Given the description of an element on the screen output the (x, y) to click on. 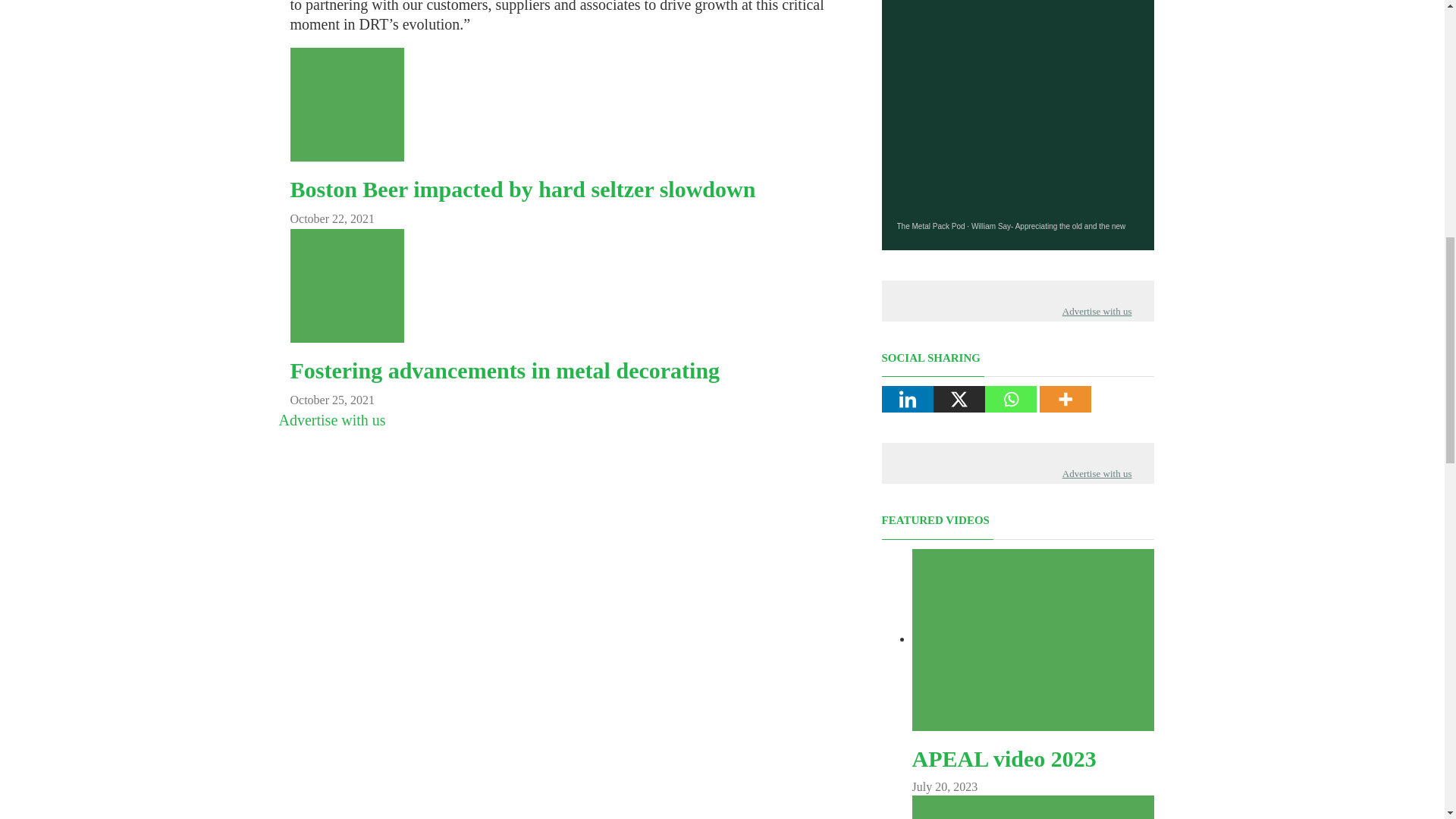
Advertise with us (1097, 310)
The Metal Pack Pod (929, 225)
The Metal Pack Pod (929, 225)
William Say- Appreciating the old and the new (1048, 225)
Advertise with us (1097, 473)
Fostering advancements in metal decorating (504, 370)
Advertise with us (332, 419)
prev post (522, 188)
Boston Beer impacted by hard seltzer slowdown (522, 188)
prev post (504, 370)
